Given the description of an element on the screen output the (x, y) to click on. 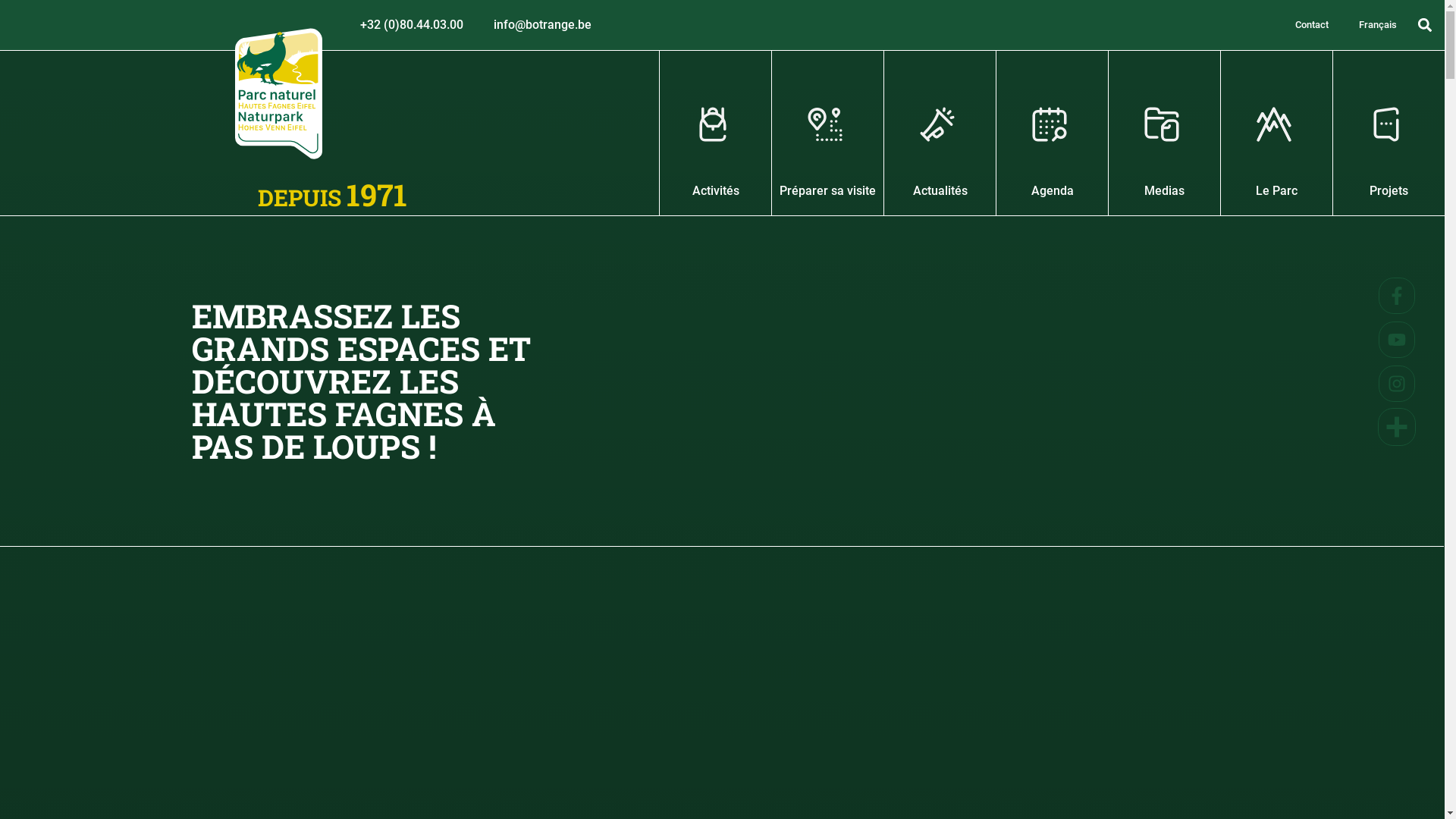
Agenda Element type: text (1051, 132)
Partager Element type: text (1396, 428)
Rechercher Element type: text (1357, 295)
Medias Element type: text (1164, 132)
info@botrange.be Element type: text (542, 24)
Contact Element type: text (1311, 24)
Projets Element type: text (1388, 132)
Le Parc Element type: text (1276, 132)
+32 (0)80.44.03.00 Element type: text (411, 24)
